Given the description of an element on the screen output the (x, y) to click on. 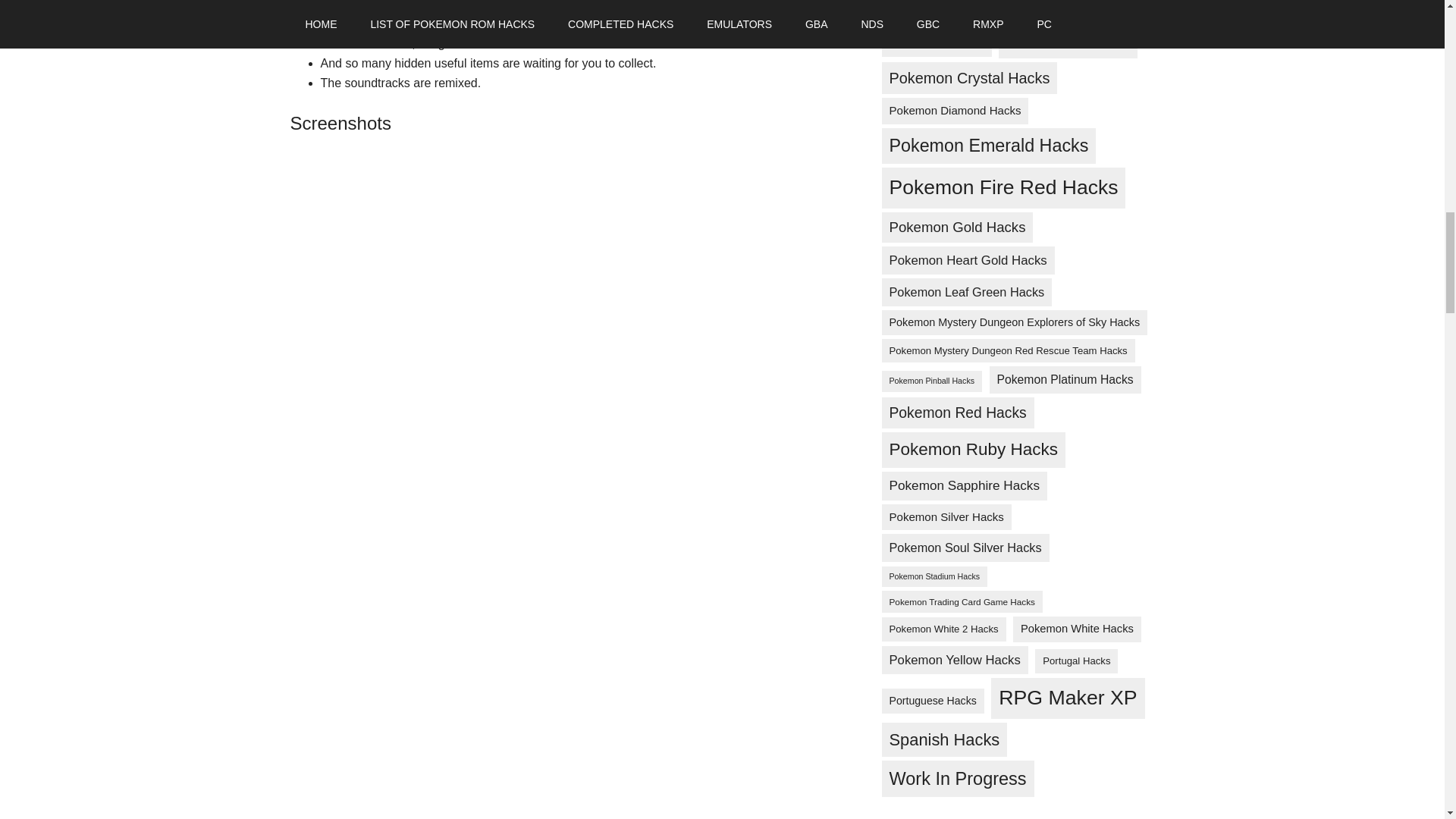
Pokemon Marigold Screenshot (386, 400)
Pokemon Marigold Screenshot (386, 580)
Pokemon Marigold Screenshot (386, 753)
Pokemon Marigold Screenshot (386, 219)
